Given the description of an element on the screen output the (x, y) to click on. 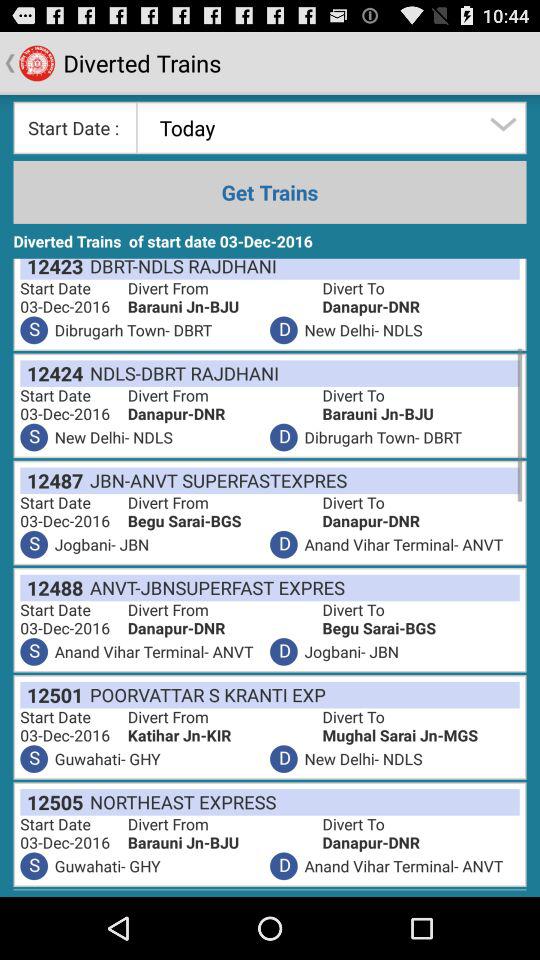
turn on item below   s icon (51, 587)
